Given the description of an element on the screen output the (x, y) to click on. 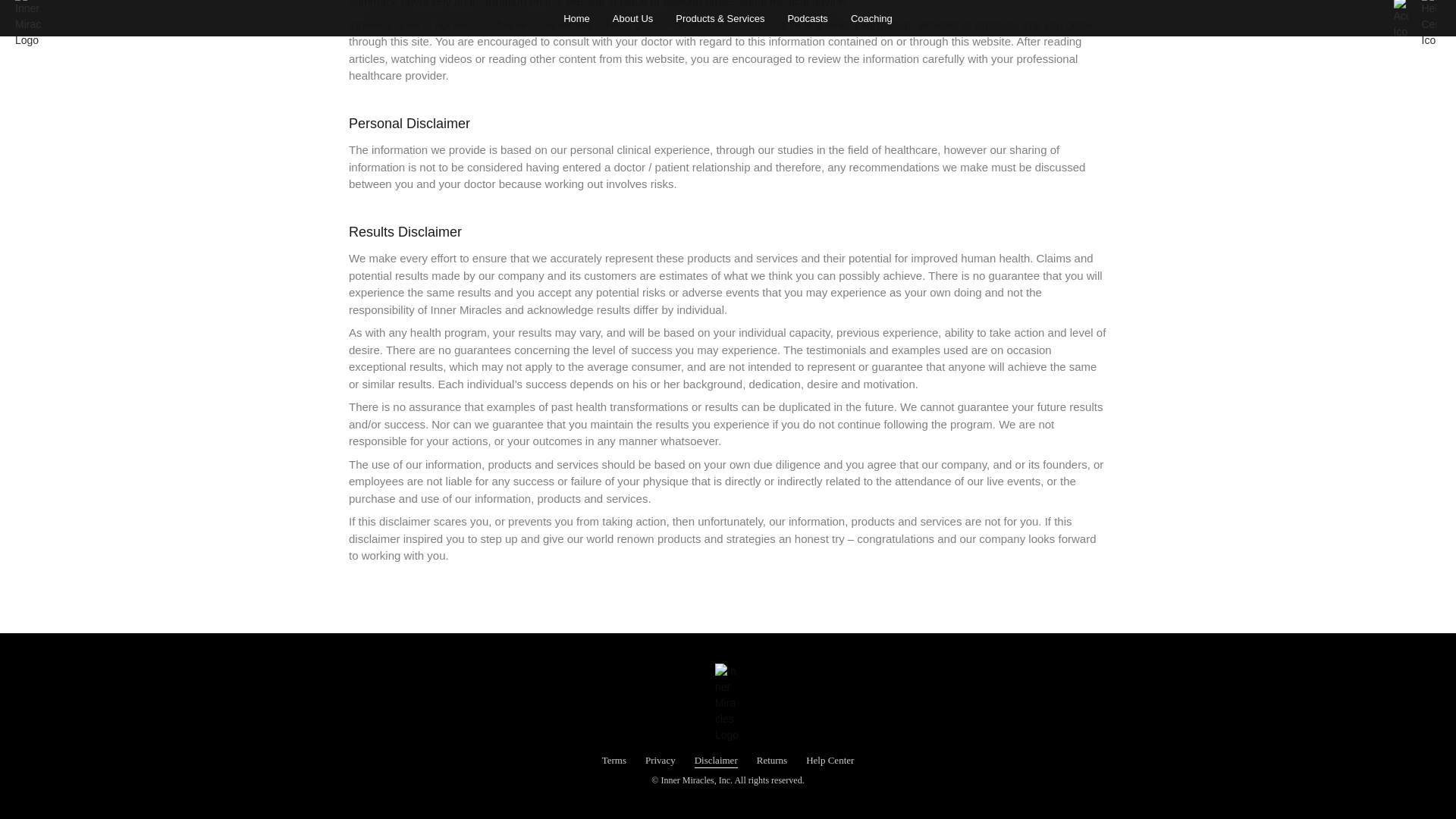
Inner Miracles, Inc. (696, 780)
Help Center (829, 760)
Disclaimer (716, 760)
Returns (772, 760)
Privacy (660, 760)
Terms (614, 760)
